Given the description of an element on the screen output the (x, y) to click on. 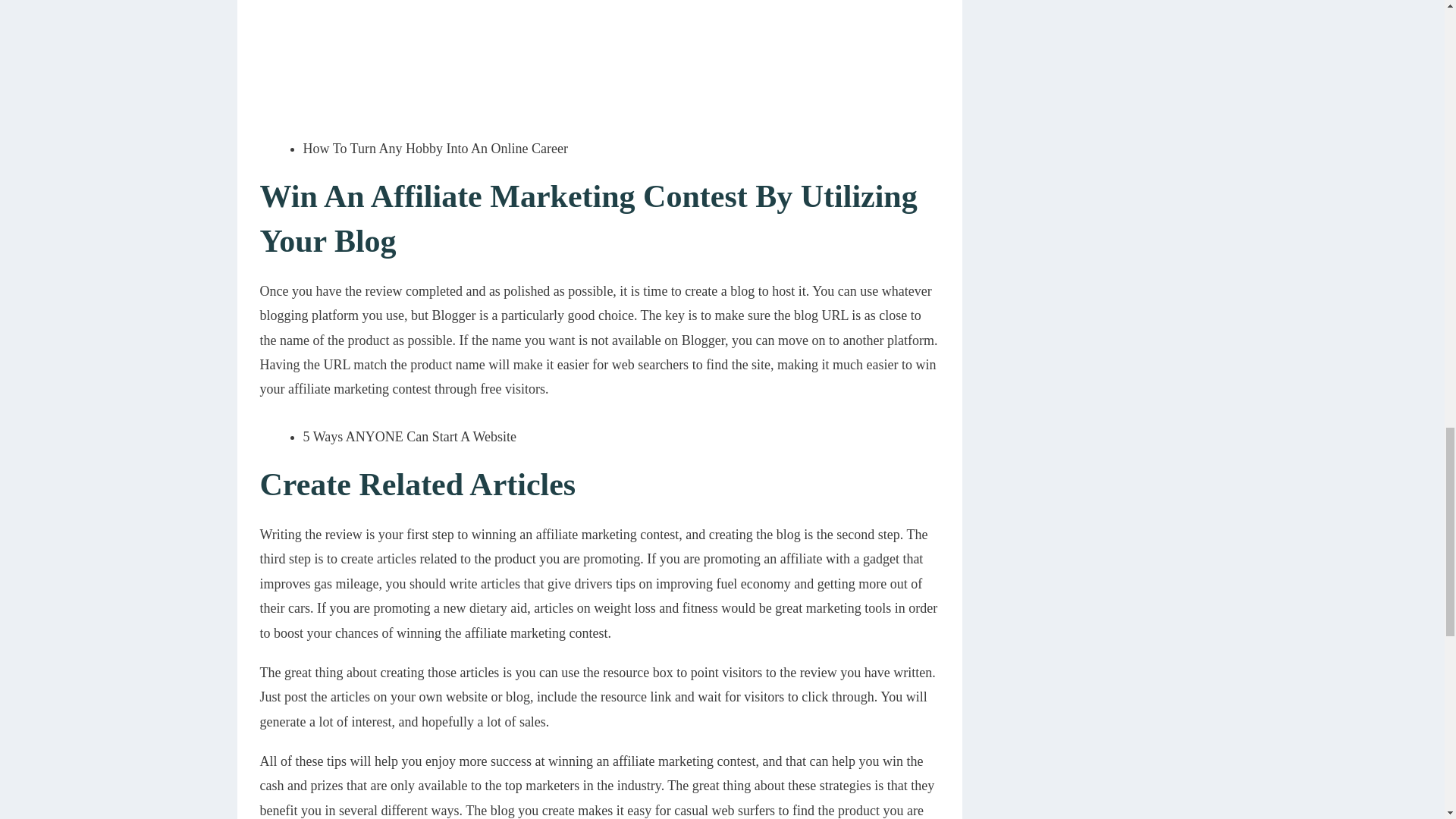
Blogger (453, 314)
How To Turn Any Hobby Into An Online Career (434, 148)
5 Ways ANYONE Can Start A Website (409, 436)
How To Turn Any Hobby Into An Online Career (434, 148)
5 Ways ANYONE Can Start A Website (409, 436)
